Given the description of an element on the screen output the (x, y) to click on. 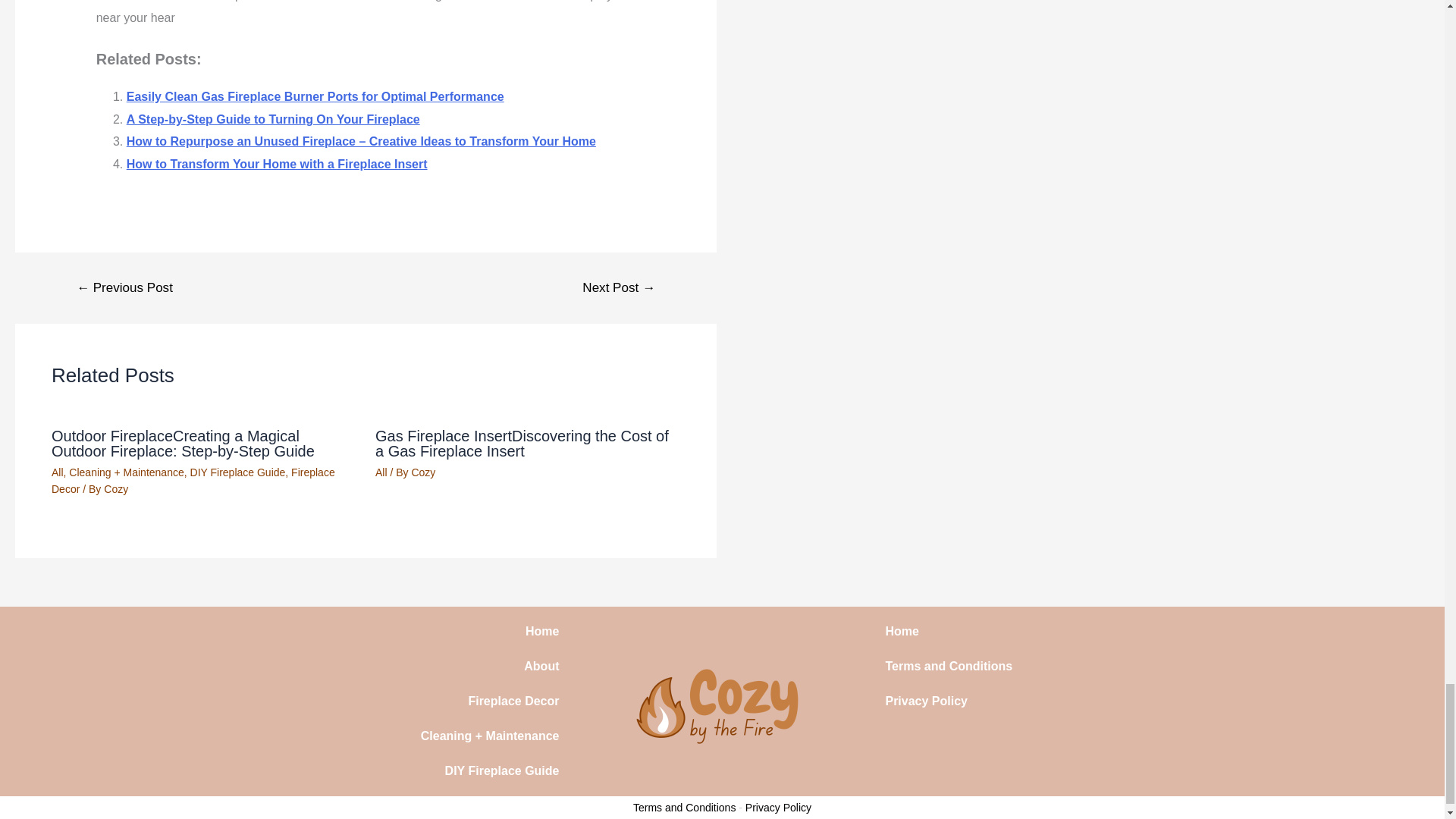
How to Transform Your Home with a Fireplace Insert (277, 164)
View all posts by Cozy (422, 472)
A Step-by-Step Guide to Turning On Your Fireplace (273, 119)
View all posts by Cozy (115, 489)
